Given the description of an element on the screen output the (x, y) to click on. 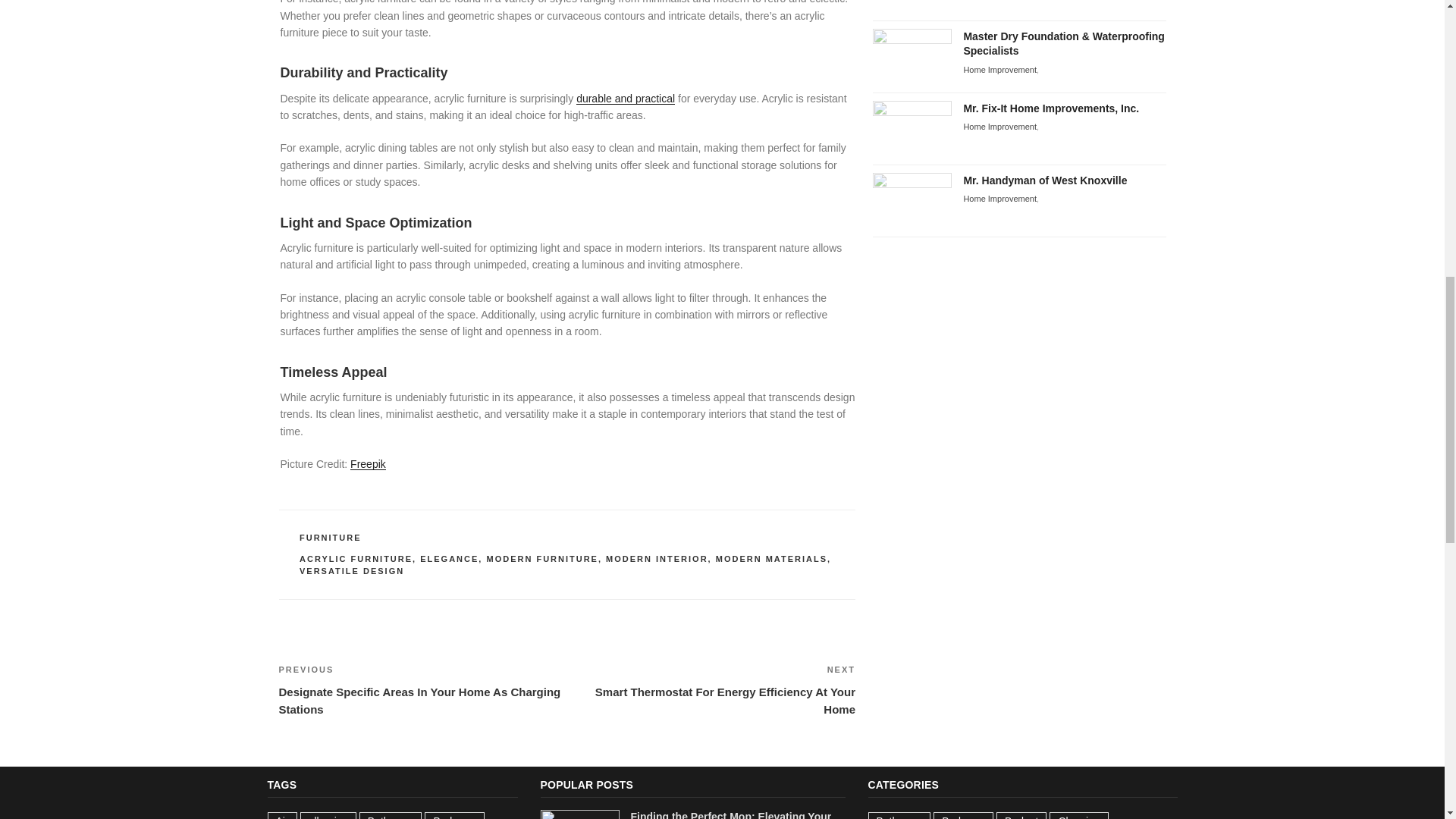
VERSATILE DESIGN (351, 570)
ACRYLIC FURNITURE (355, 558)
Home Improvement (999, 69)
Home Improvement (999, 198)
durable and practical (625, 98)
FURNITURE (330, 537)
Home Improvement (999, 126)
MODERN INTERIOR (656, 558)
MODERN MATERIALS (771, 558)
ELEGANCE (449, 558)
MODERN FURNITURE (542, 558)
Freepik (367, 463)
